Given the description of an element on the screen output the (x, y) to click on. 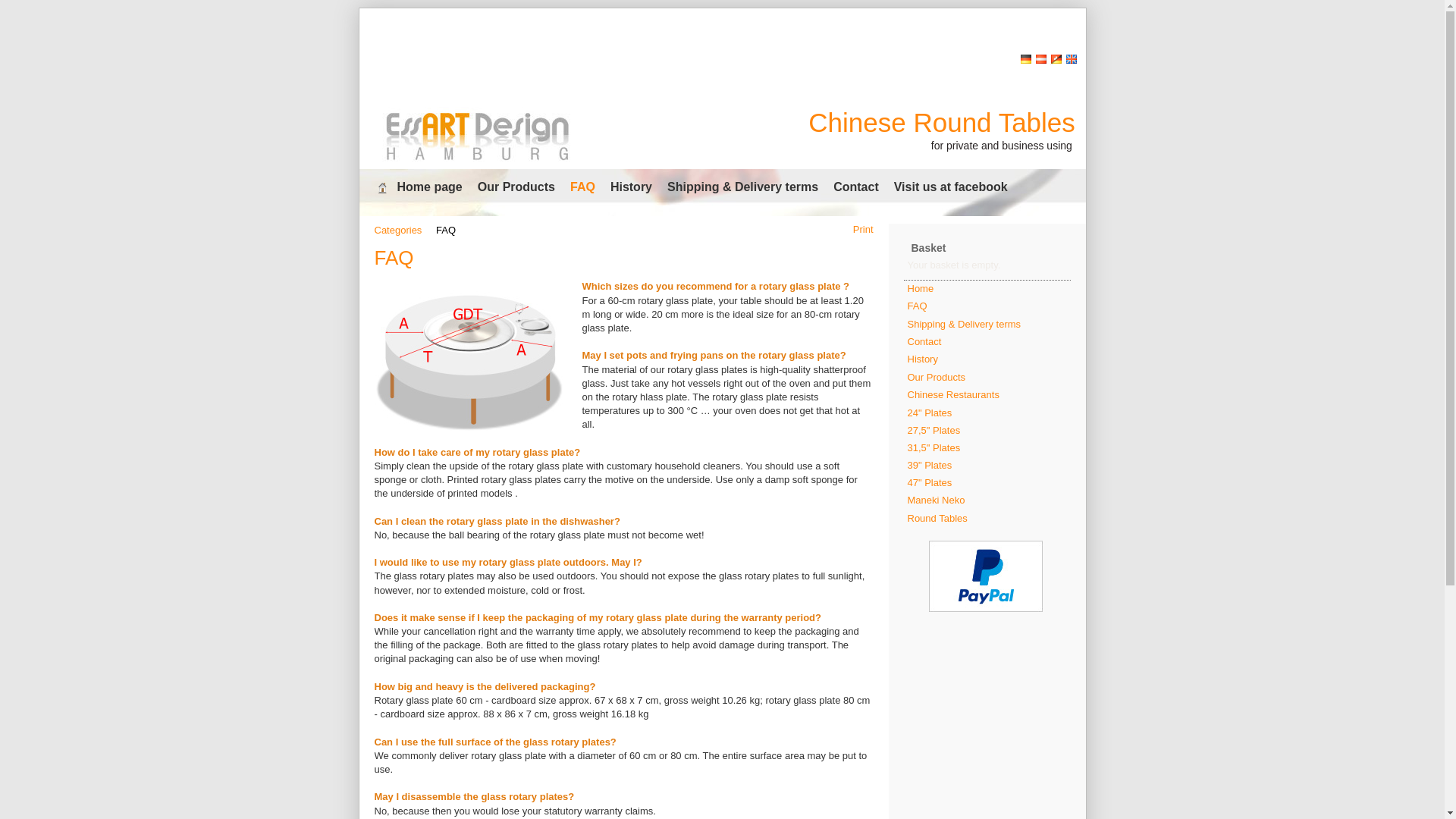
Categories (403, 229)
39" Plates (986, 465)
Home (920, 288)
Chinese Round Tables (941, 122)
Round Tables (986, 518)
Maneki Neko (986, 499)
Print (855, 230)
FAQ (585, 186)
Our Products (519, 185)
Our Products (986, 377)
Home page (433, 185)
Chinese Round Tables (476, 137)
31,5" Plates (986, 448)
27,5" Plates (986, 430)
Visit us at facebook (953, 185)
